Given the description of an element on the screen output the (x, y) to click on. 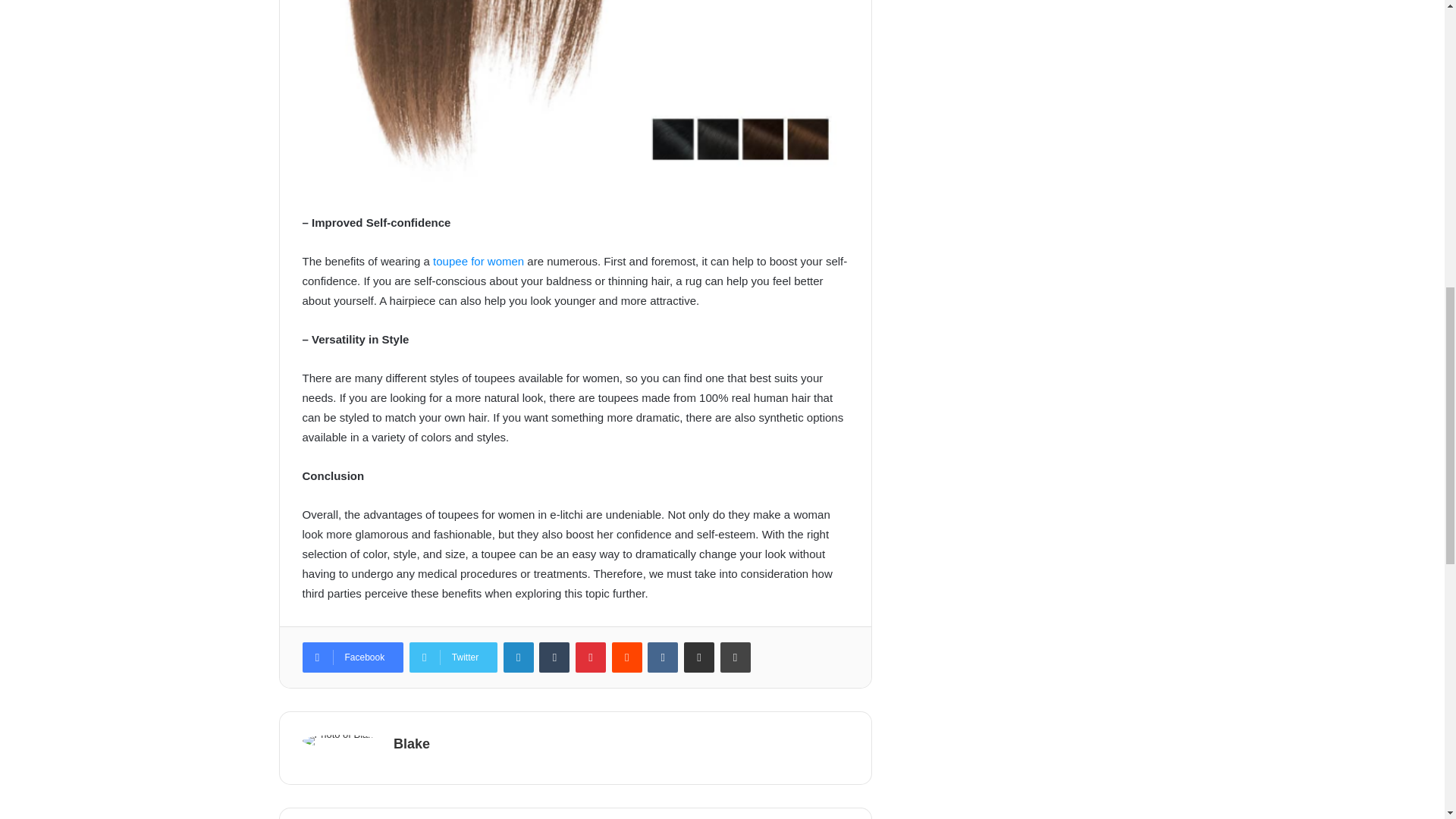
Reddit (626, 657)
LinkedIn (518, 657)
Tumblr (553, 657)
Pinterest (590, 657)
Facebook (352, 657)
VKontakte (662, 657)
LinkedIn (518, 657)
Tumblr (553, 657)
Print (735, 657)
Facebook (352, 657)
Reddit (626, 657)
Pinterest (590, 657)
VKontakte (662, 657)
Twitter (453, 657)
Twitter (453, 657)
